Given the description of an element on the screen output the (x, y) to click on. 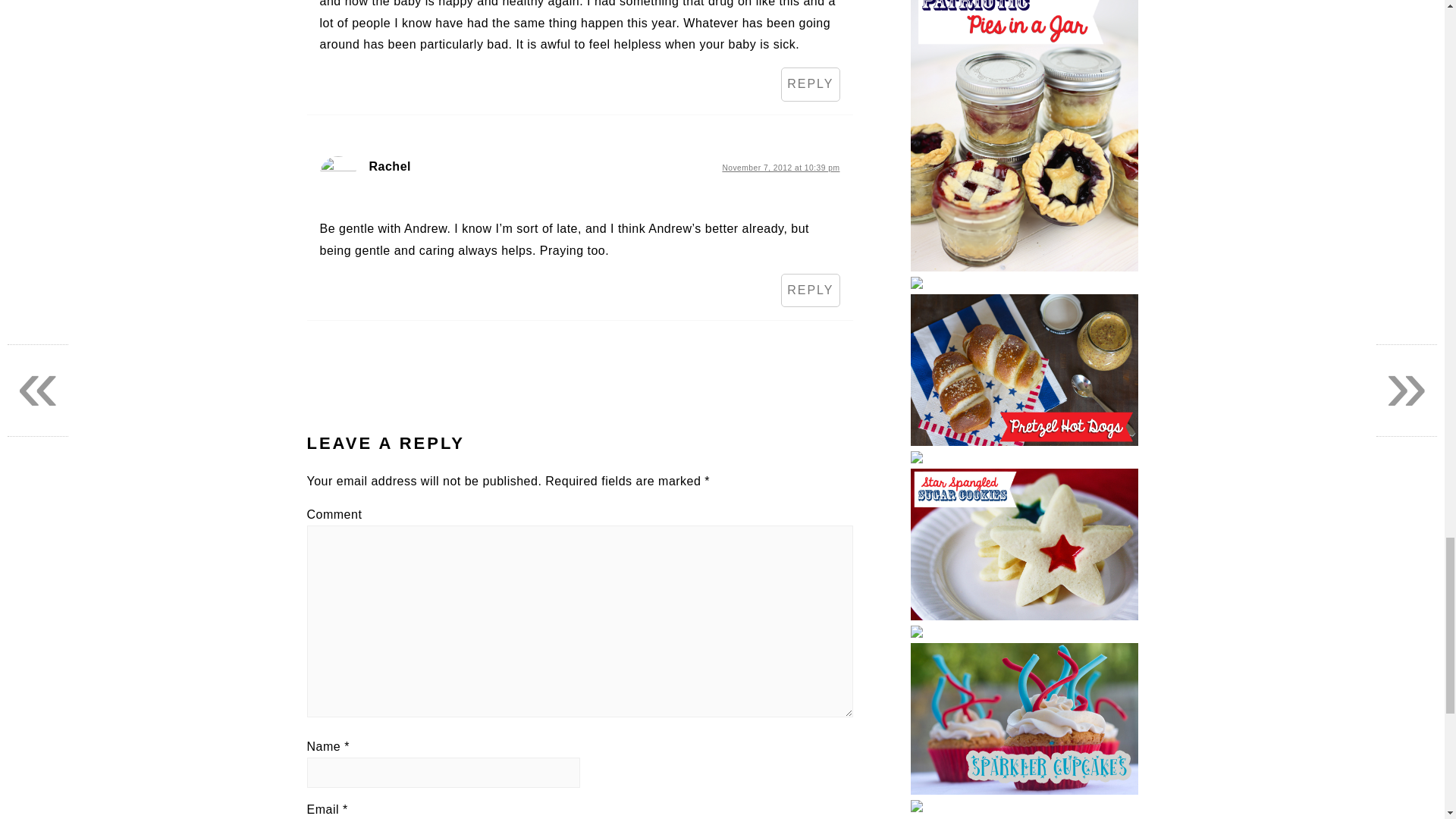
REPLY (810, 84)
